Given the description of an element on the screen output the (x, y) to click on. 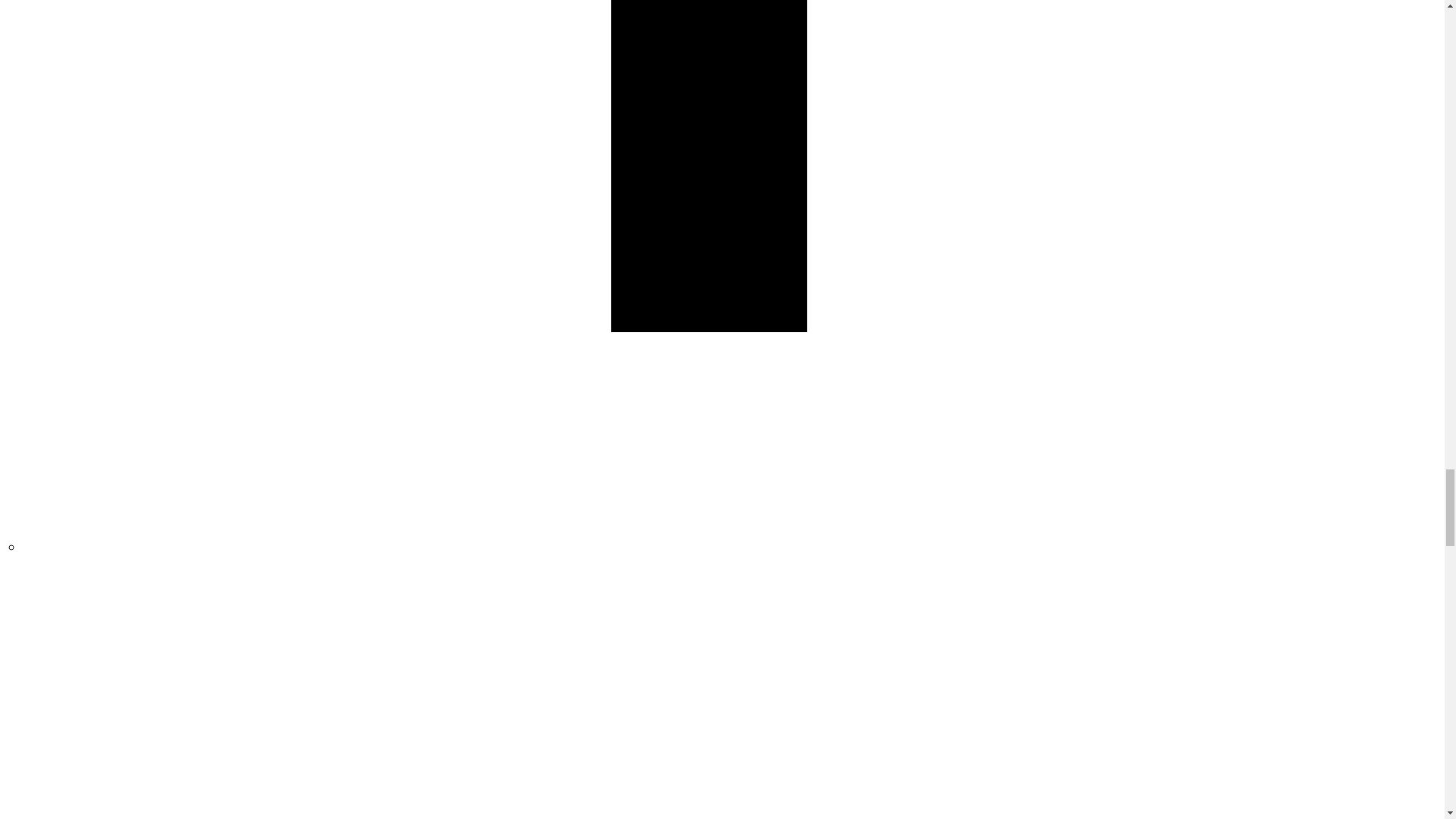
Facebook (733, 546)
